Given the description of an element on the screen output the (x, y) to click on. 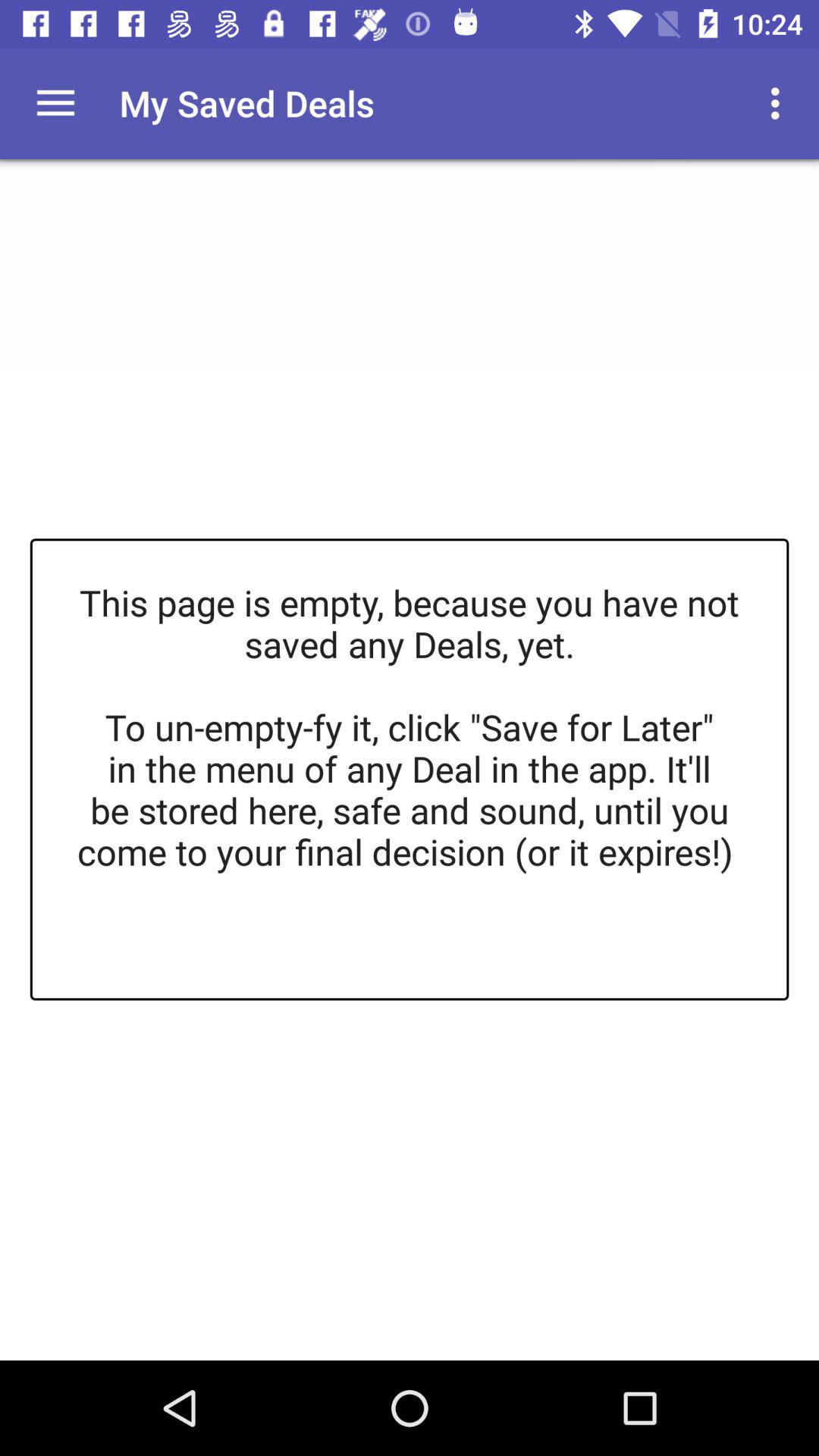
choose the item above this page is item (779, 103)
